Given the description of an element on the screen output the (x, y) to click on. 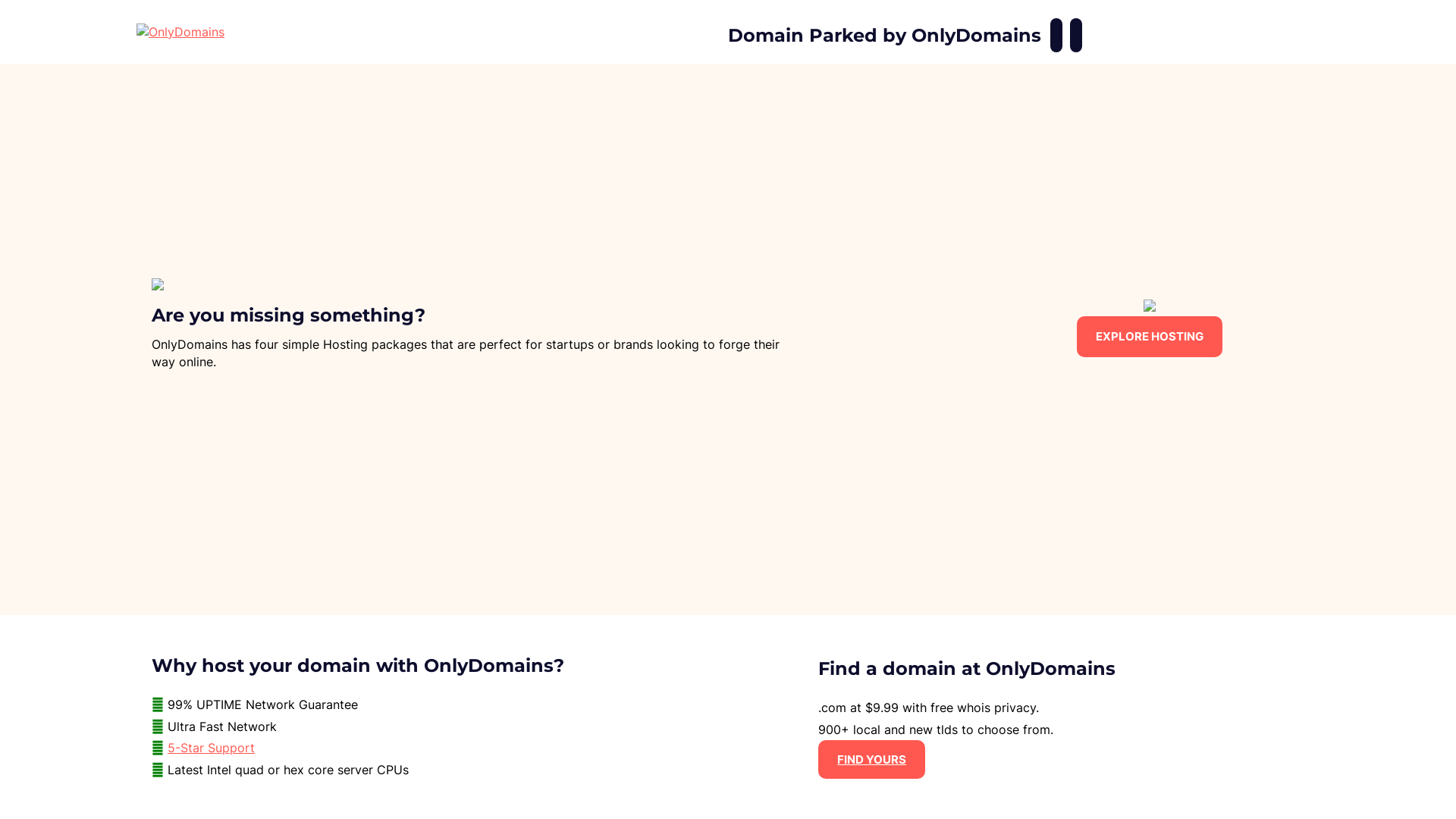
OnlyDomains Facebook Element type: hover (1056, 35)
EXPLORE HOSTING Element type: text (1149, 336)
FIND YOURS Element type: text (871, 759)
OnlyDomains Twitter Element type: hover (1075, 35)
5-Star Support Element type: text (210, 747)
